Given the description of an element on the screen output the (x, y) to click on. 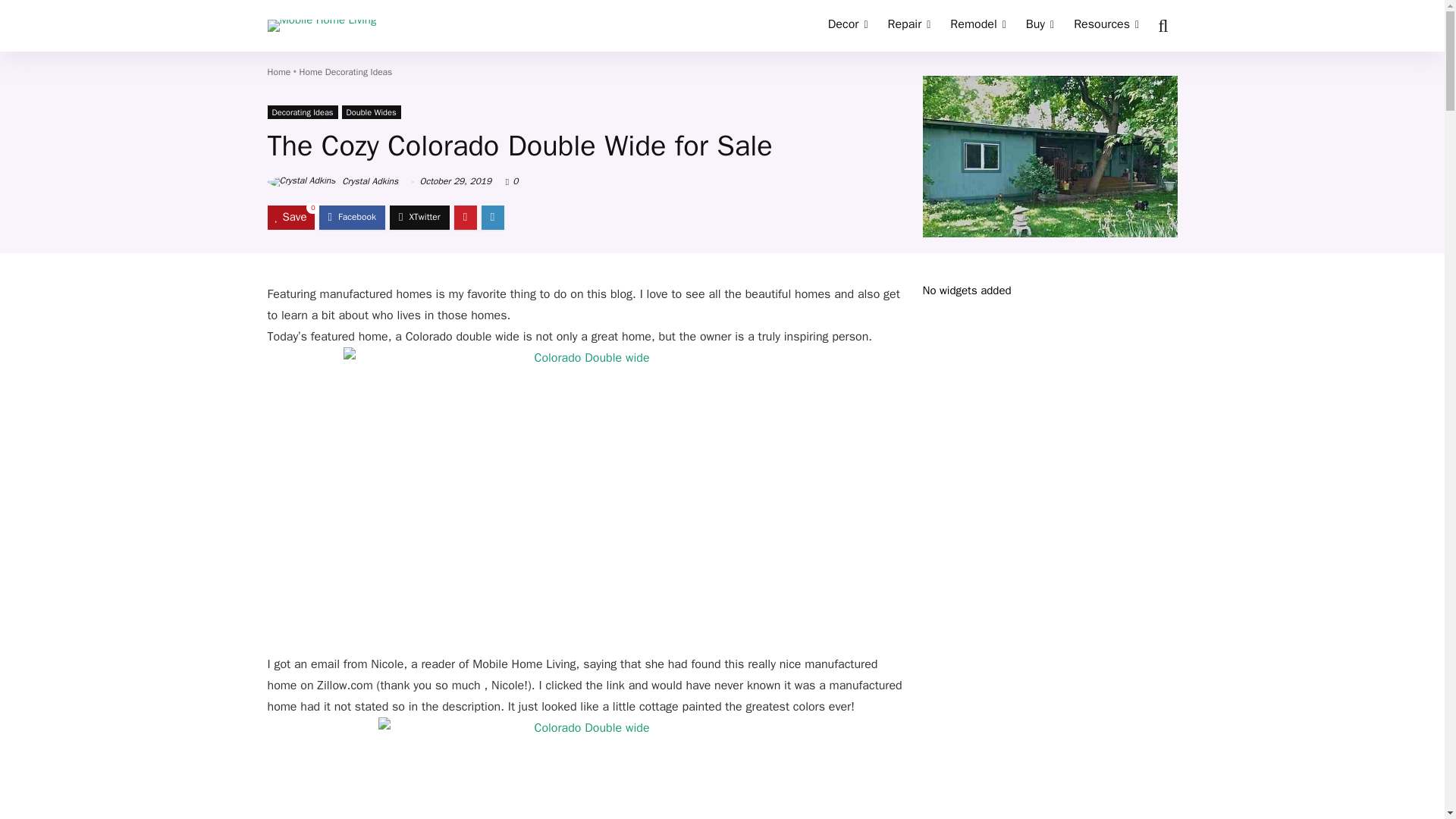
Resources (1106, 25)
Repair (908, 25)
Decor (847, 25)
Buy (1040, 25)
View all posts in Double Wides (371, 111)
Remodel (977, 25)
View all posts in Decorating Ideas (301, 111)
